Given the description of an element on the screen output the (x, y) to click on. 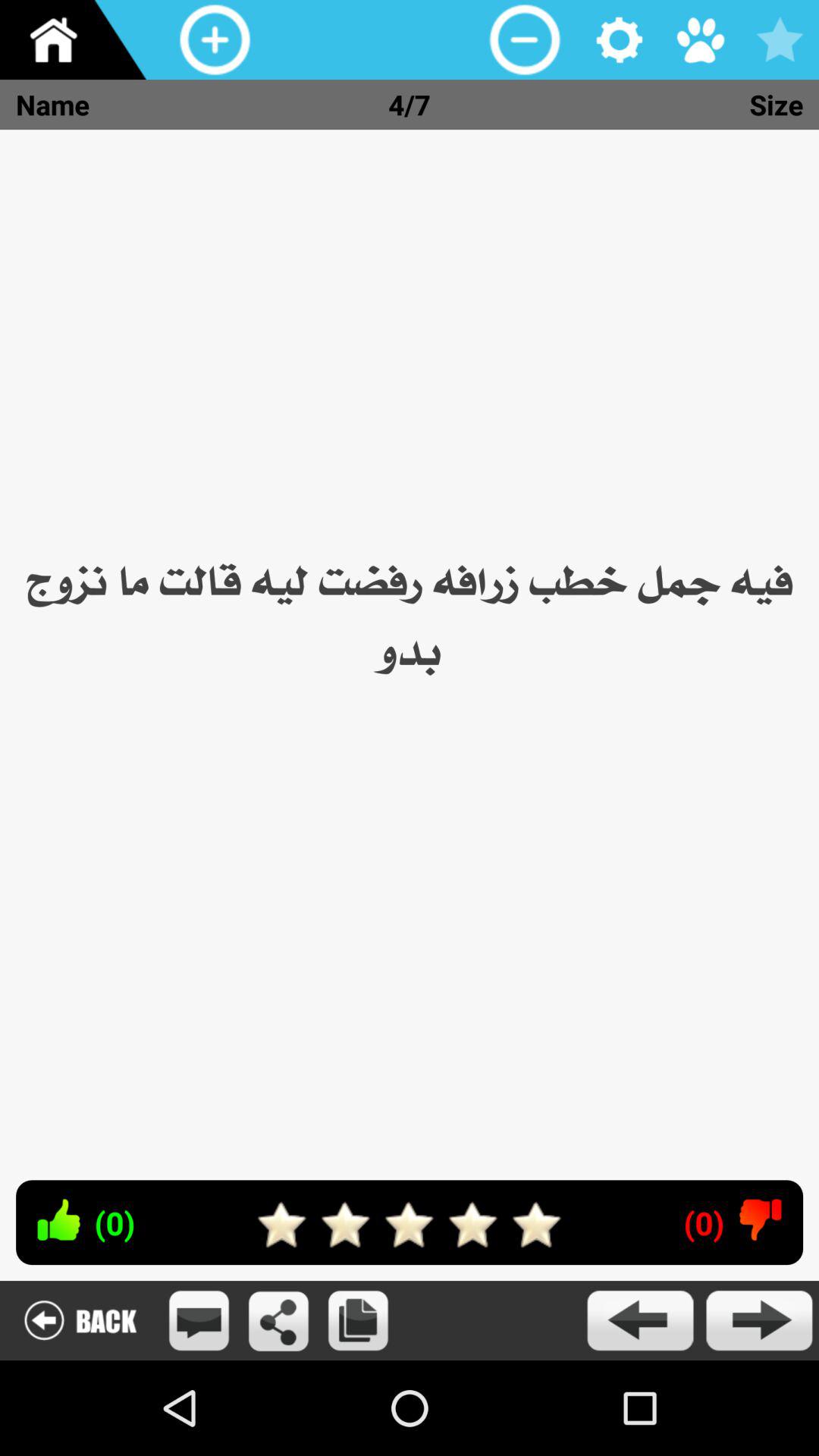
message (198, 1320)
